Given the description of an element on the screen output the (x, y) to click on. 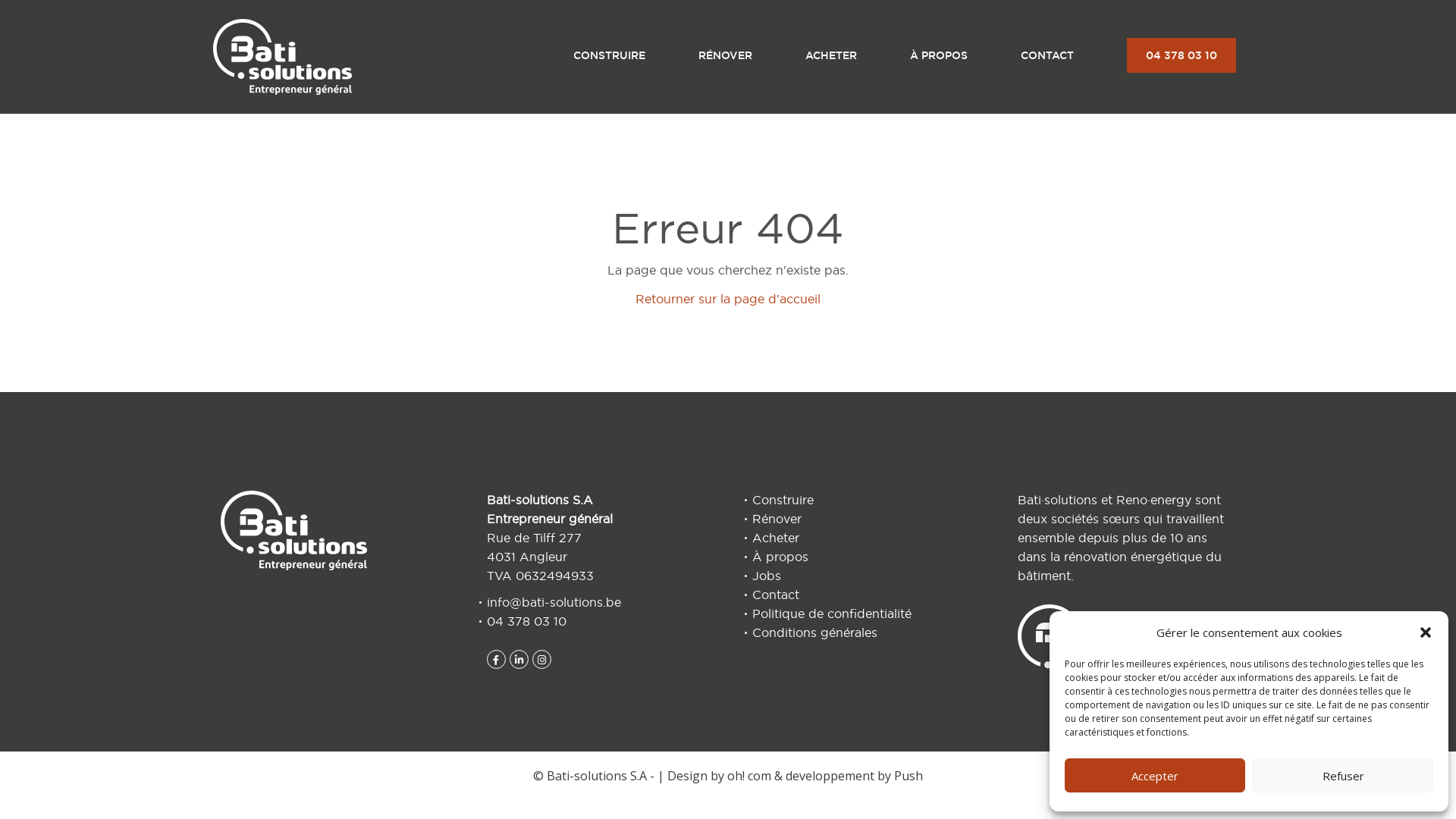
Push Element type: text (908, 775)
CONSTRUIRE Element type: text (609, 54)
Contact Element type: text (860, 594)
04 378 03 10 Element type: text (526, 620)
CONTACT Element type: text (1046, 54)
Jobs Element type: text (860, 575)
Construire Element type: text (860, 499)
04 378 03 10 Element type: text (1181, 54)
Accepter Element type: text (1154, 775)
info@bati-solutions.be Element type: text (553, 601)
Acheter Element type: text (860, 537)
Retourner sur la page d'accueil Element type: text (727, 298)
ACHETER Element type: text (830, 54)
Refuser Element type: text (1342, 775)
